Given the description of an element on the screen output the (x, y) to click on. 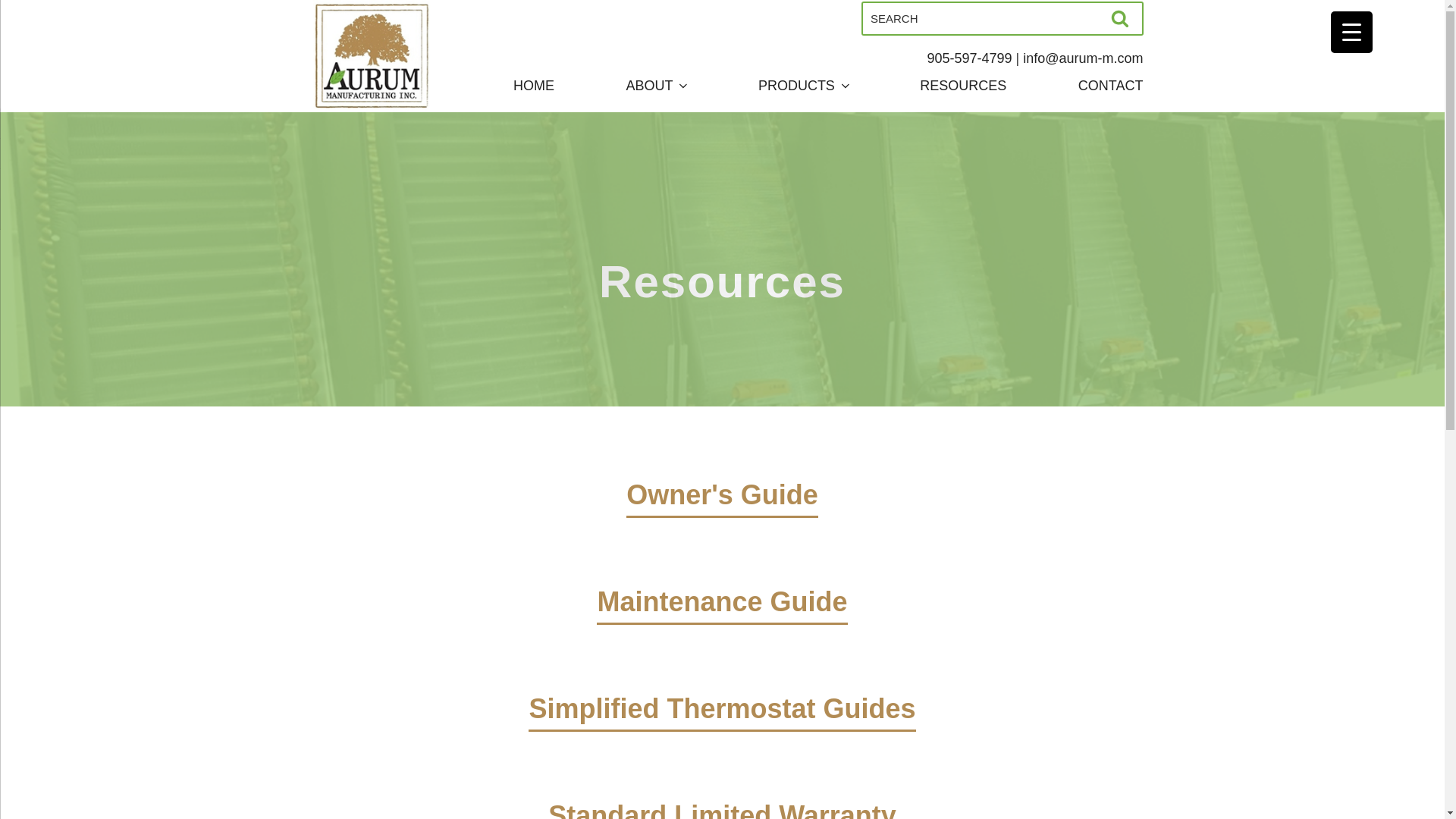
info@aurum-m.com Element type: text (1082, 57)
Maintenance Guide Element type: text (721, 623)
Simplified Thermostat Guides Element type: text (721, 730)
ABOUT Element type: text (655, 85)
Owner's Guide Element type: text (722, 516)
RESOURCES Element type: text (962, 85)
HOME Element type: text (533, 85)
Search for: Element type: hover (1002, 18)
905-597-4799 Element type: text (968, 57)
PRODUCTS Element type: text (803, 85)
CONTACT Element type: text (1110, 85)
